Given the description of an element on the screen output the (x, y) to click on. 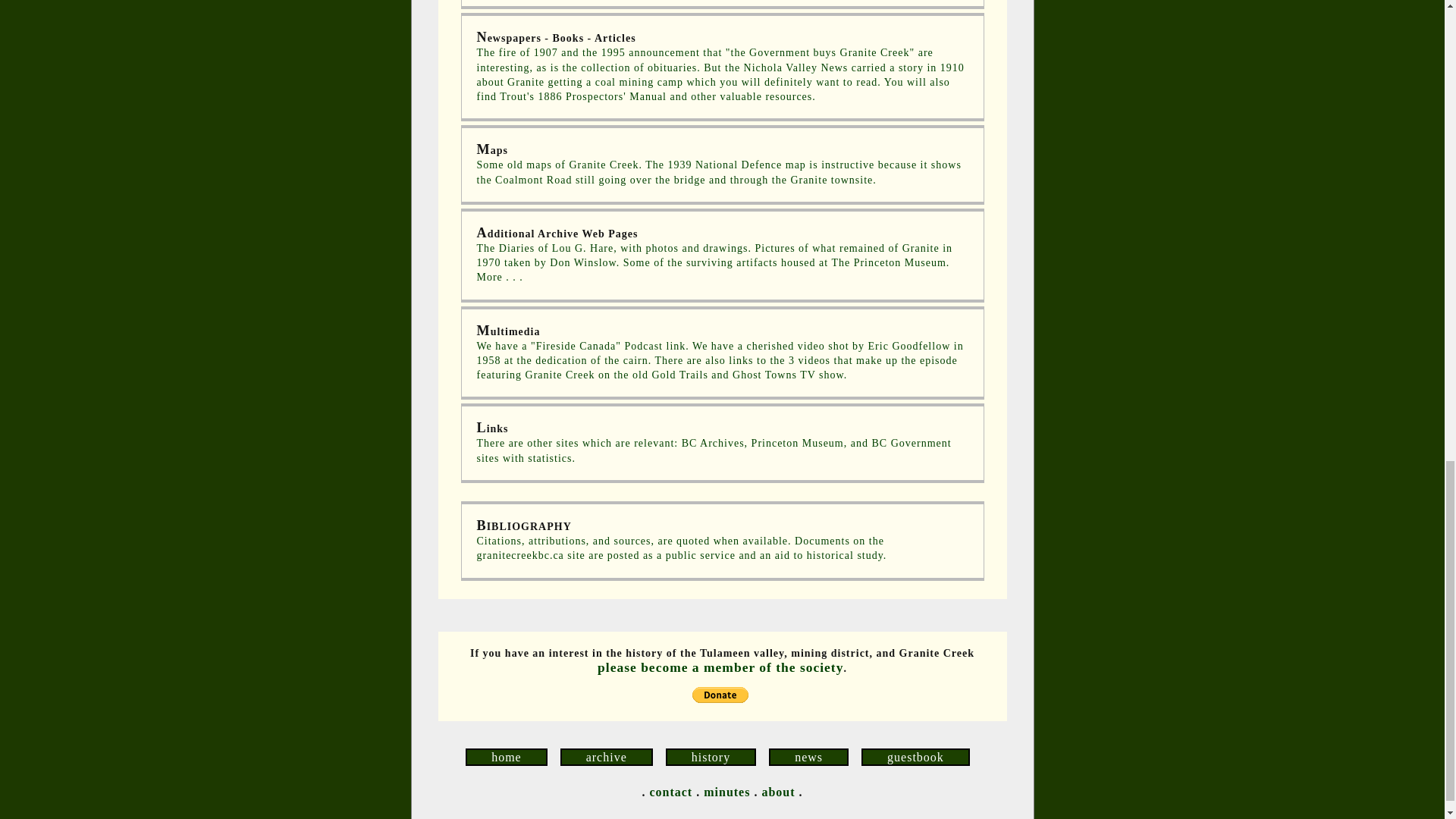
guestbook (915, 756)
minutes (726, 791)
home (506, 756)
please become a member of the society (719, 668)
contact (671, 791)
news (808, 756)
history (710, 756)
about (777, 791)
archive (606, 756)
